Given the description of an element on the screen output the (x, y) to click on. 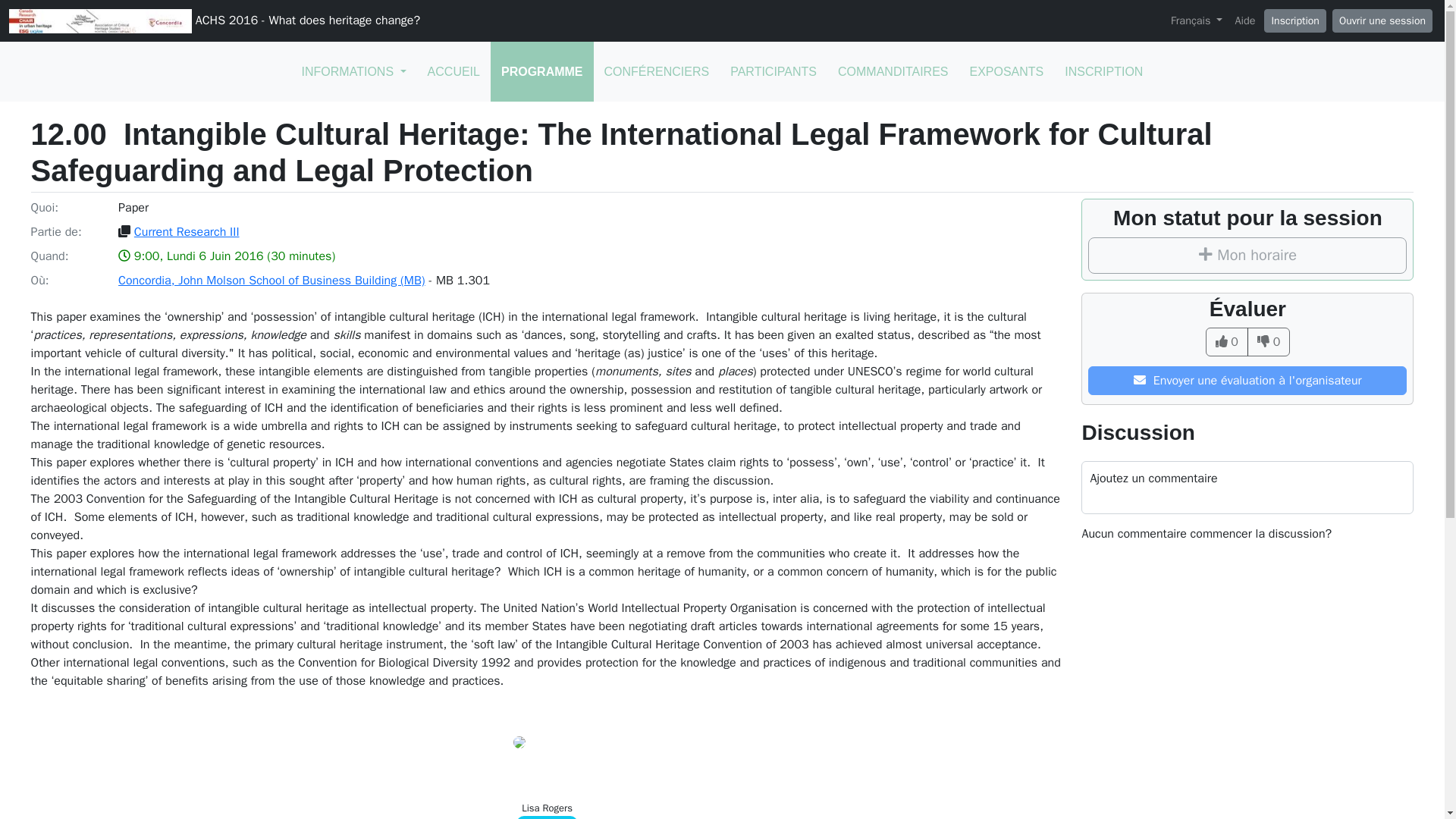
0 (1268, 341)
Lisa Rogers (546, 807)
Ouvrir une session (1382, 20)
0 (1226, 341)
INFORMATIONS (353, 71)
EXPOSANTS (1006, 71)
Inscription (1293, 20)
ACCUEIL (453, 71)
Mon horaire (1246, 255)
Current Research III (186, 231)
PROGRAMME (542, 71)
COMMANDITAIRES (892, 71)
PARTICIPANTS (773, 71)
ACHS 2016 - What does heritage change? (214, 21)
INSCRIPTION (1103, 71)
